Given the description of an element on the screen output the (x, y) to click on. 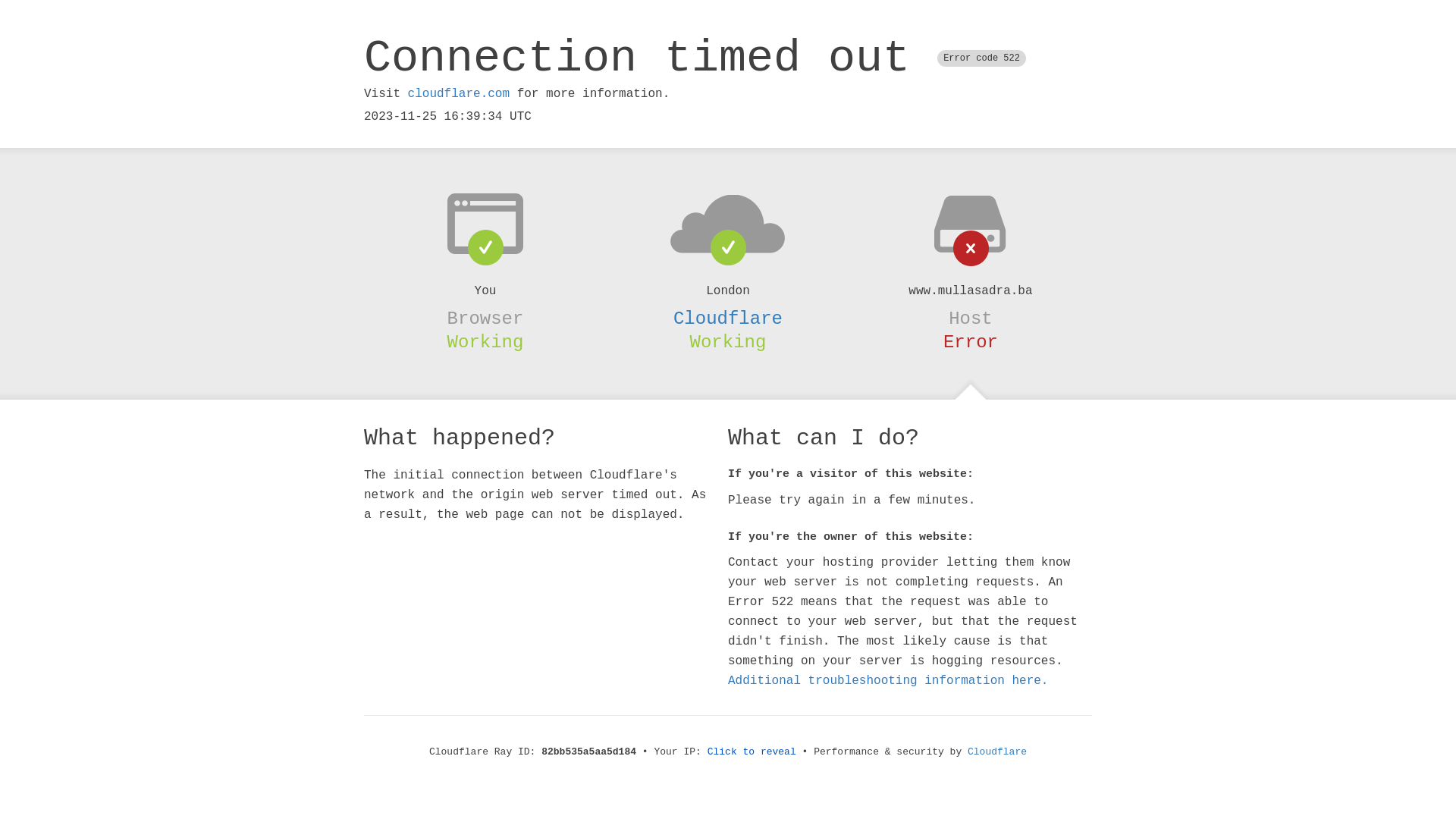
cloudflare.com Element type: text (458, 93)
Cloudflare Element type: text (727, 318)
Cloudflare Element type: text (996, 751)
Additional troubleshooting information here. Element type: text (888, 680)
Click to reveal Element type: text (751, 751)
